Given the description of an element on the screen output the (x, y) to click on. 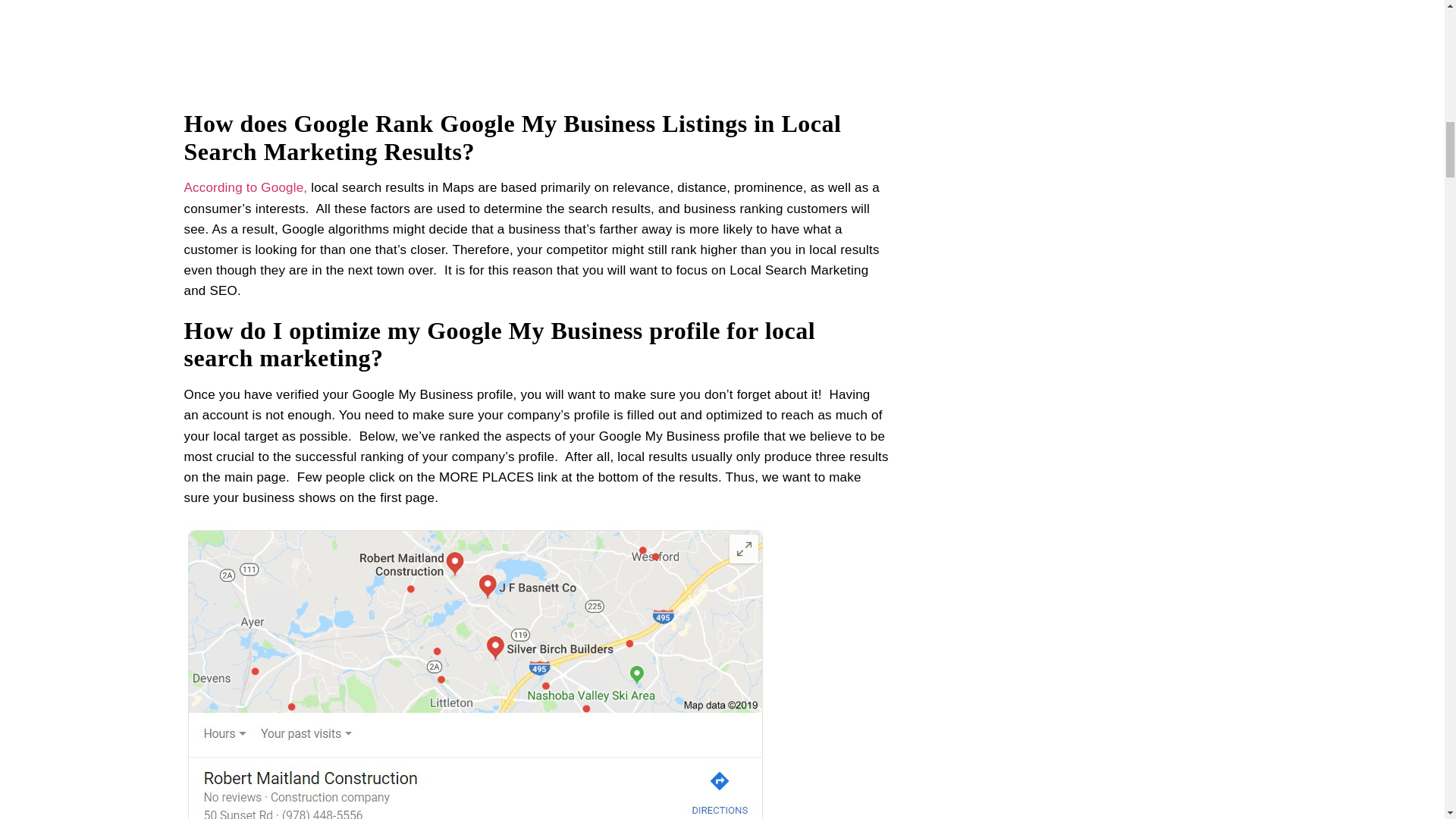
How to verify your business on Google (535, 44)
